Given the description of an element on the screen output the (x, y) to click on. 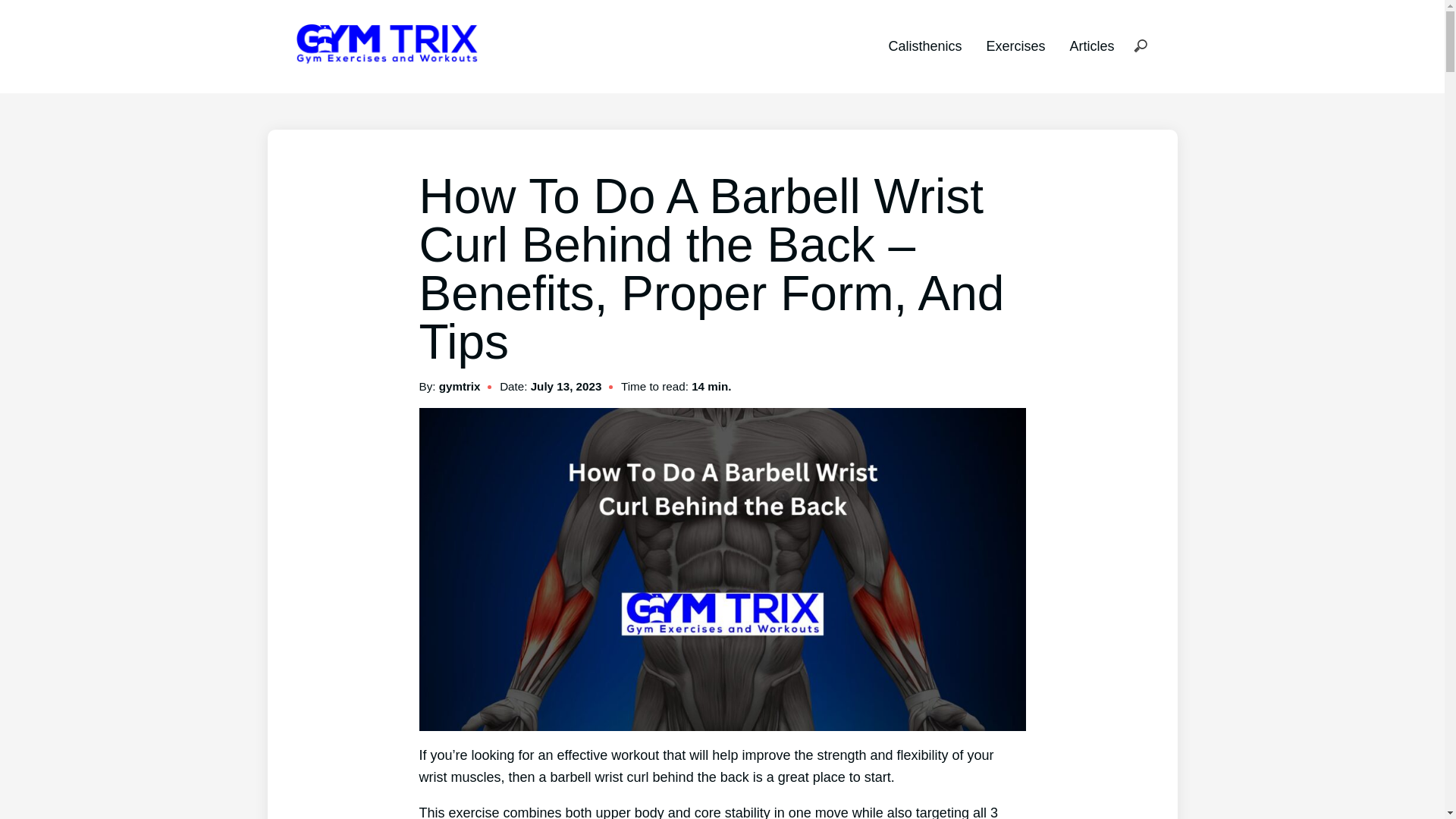
Calisthenics (924, 46)
Search for: (1139, 46)
Articles (1090, 46)
Exercises (1015, 46)
